Given the description of an element on the screen output the (x, y) to click on. 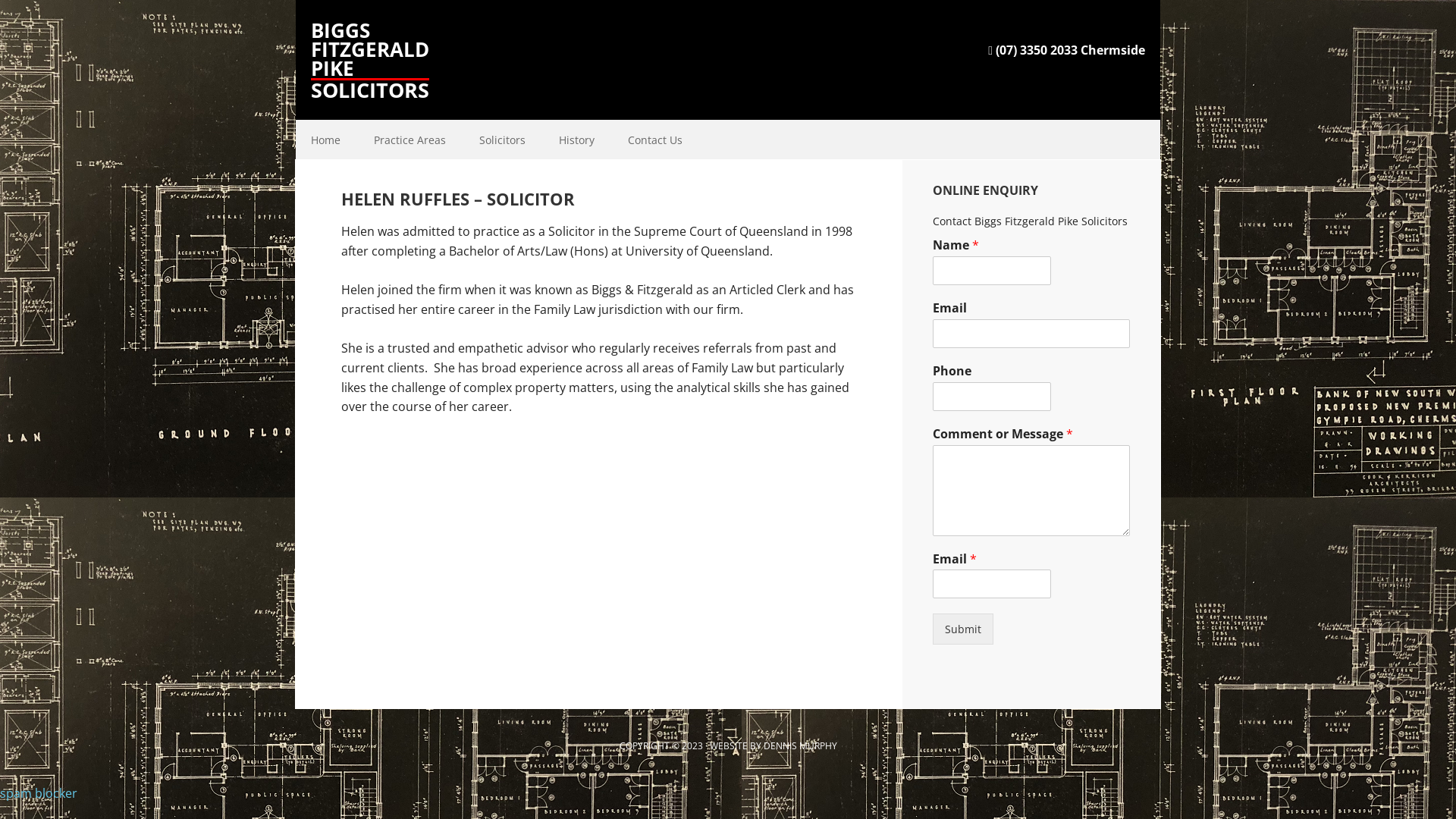
Practice Areas Element type: text (409, 139)
Home Element type: text (325, 139)
spam blocker Element type: text (38, 792)
Submit Element type: text (962, 628)
Contact Us Element type: text (654, 139)
Solicitors Element type: text (502, 139)
DENNIS MURPHY Element type: text (799, 745)
History Element type: text (576, 139)
